Given the description of an element on the screen output the (x, y) to click on. 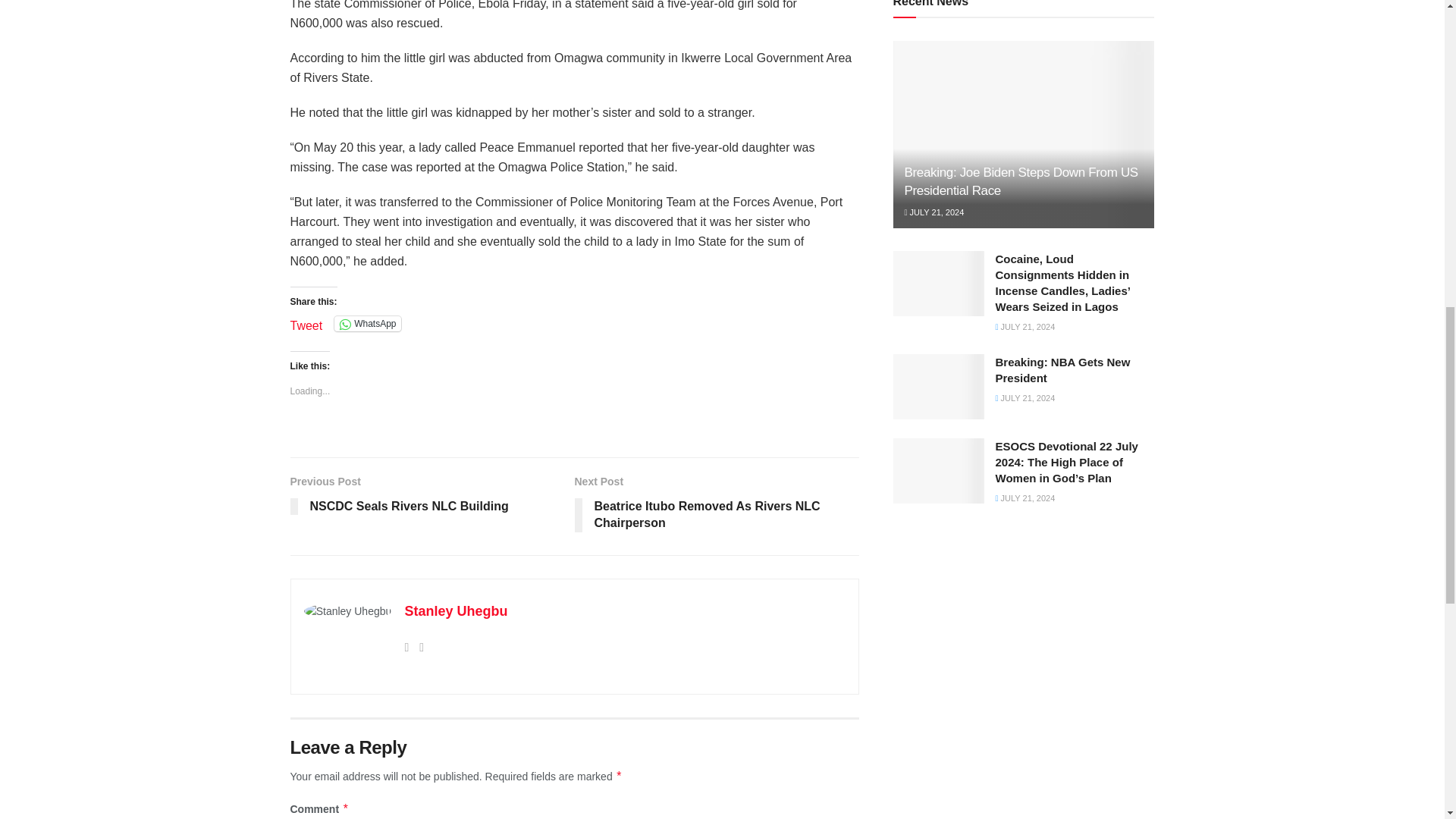
Click to share on WhatsApp (367, 323)
